Given the description of an element on the screen output the (x, y) to click on. 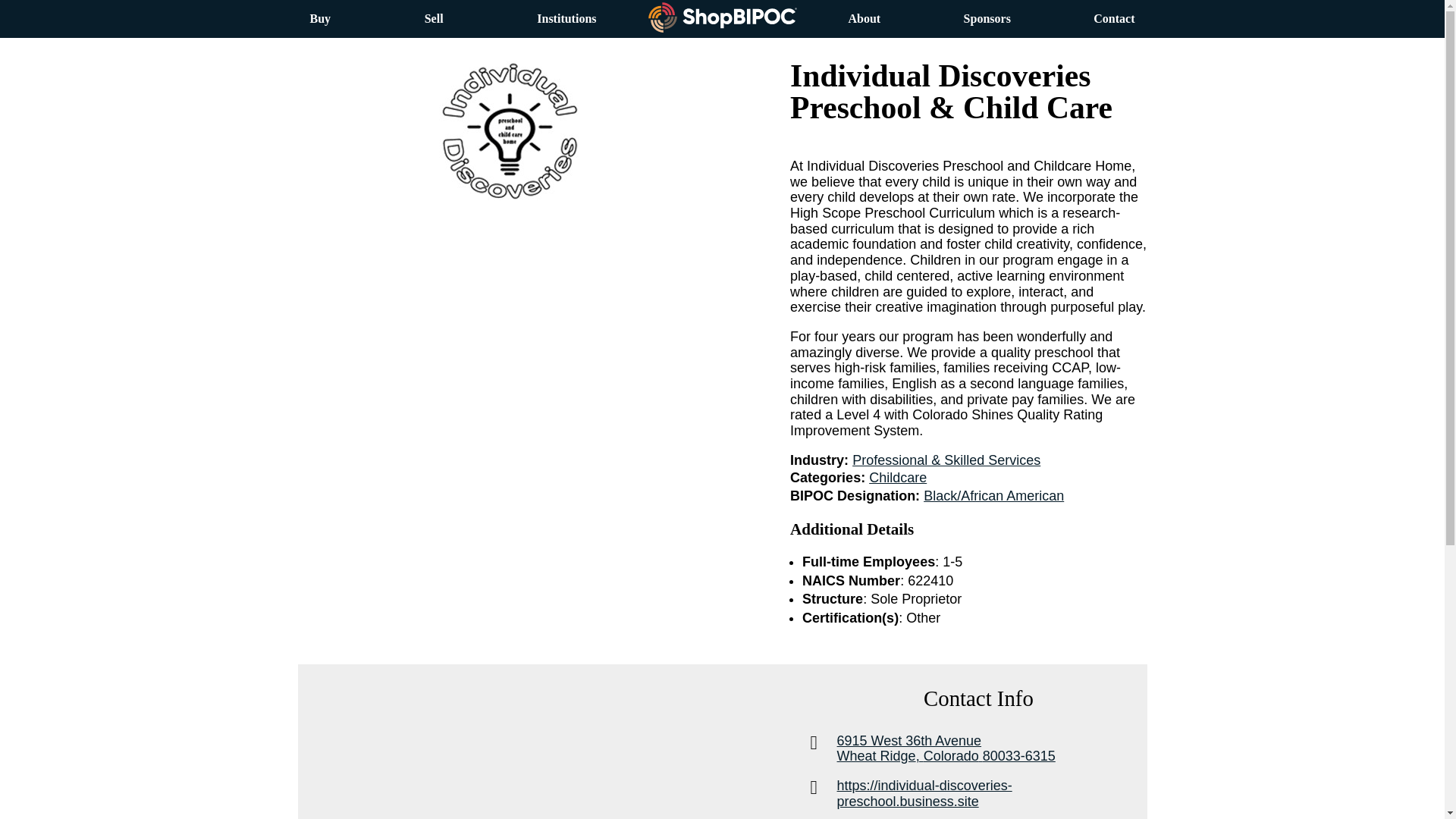
Buy (319, 18)
Sell (433, 18)
Institutions (566, 18)
Sponsors (987, 18)
About (992, 748)
Childcare (863, 18)
Contact (897, 477)
